Given the description of an element on the screen output the (x, y) to click on. 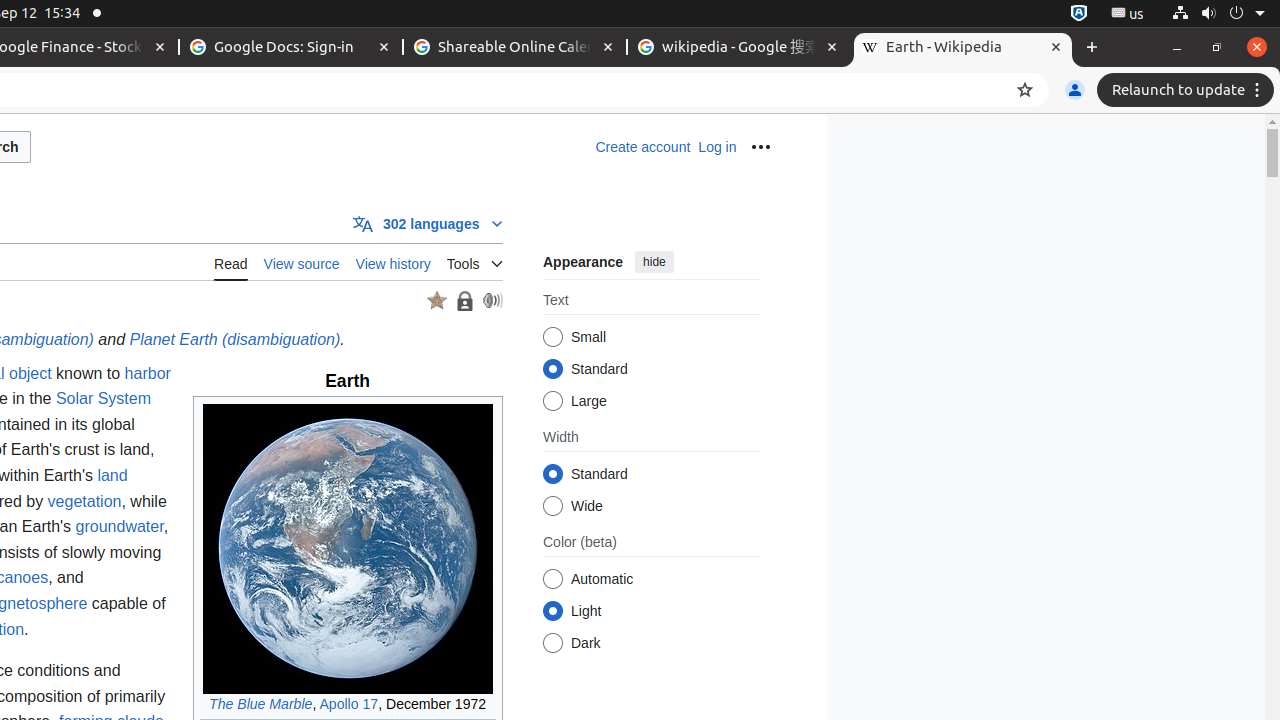
Planet Earth (disambiguation) Element type: link (235, 340)
Solar System Element type: link (103, 399)
Featured article Element type: link (436, 301)
Photograph of Earth taken by the Apollo 17 mission. The Arabian peninsula, Africa and Madagascar lie in the upper half of the disc, whereas Antarctica is at the bottom. Element type: link (347, 548)
Page semi-protected Element type: link (464, 300)
